Given the description of an element on the screen output the (x, y) to click on. 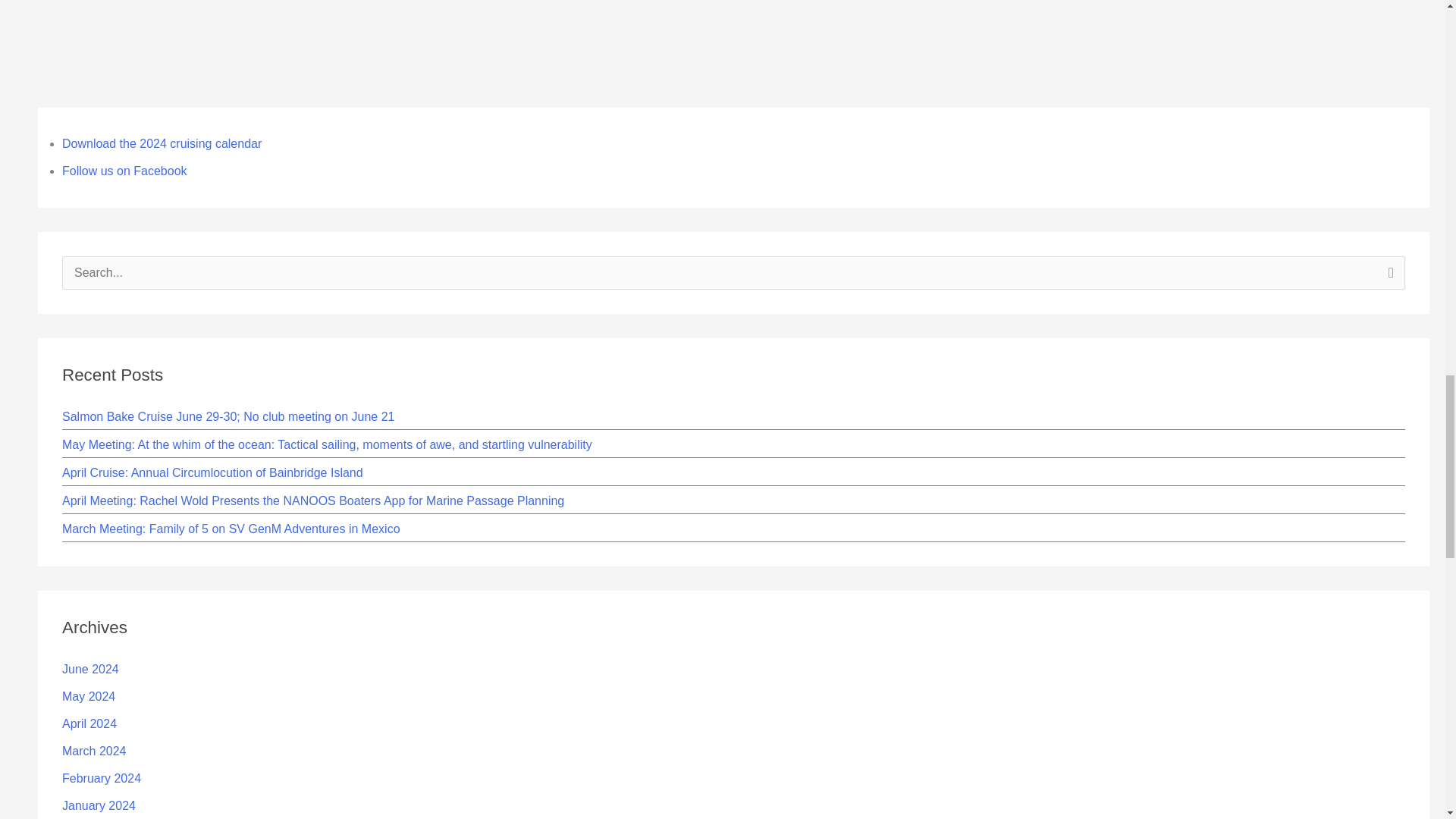
March 2024 (94, 750)
April 2024 (89, 723)
Follow us on Facebook (124, 170)
PSCC Annual Salmon Bake at Port Madison (61, 4)
May 2024 (88, 696)
March Meeting: Family of 5 on SV GenM Adventures in Mexico (231, 528)
June 2024 (90, 668)
February 2024 (101, 778)
April Cruise: Annual Circumlocution of Bainbridge Island (212, 472)
January 2024 (98, 805)
Download the 2024 cruising calendar (162, 143)
Salmon Bake Cruise June 29-30; No club meeting on June 21 (228, 416)
